Given the description of an element on the screen output the (x, y) to click on. 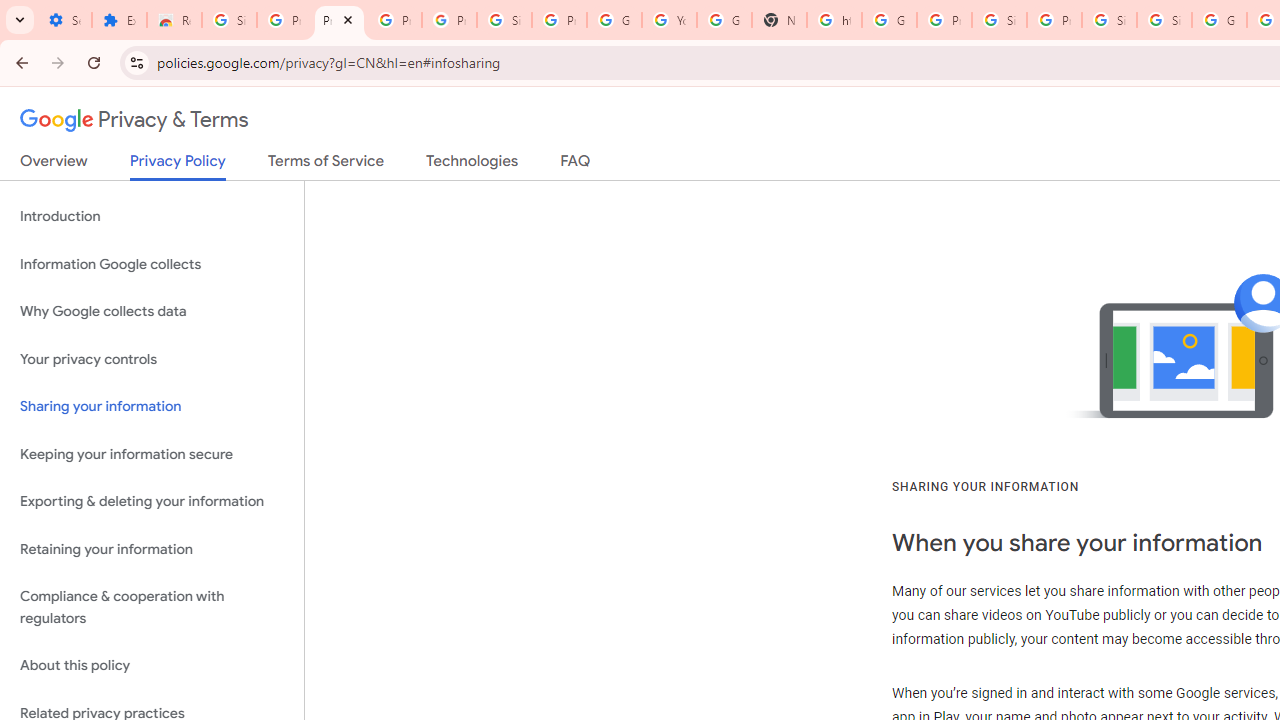
Sign in - Google Accounts (229, 20)
Extensions (119, 20)
